Given the description of an element on the screen output the (x, y) to click on. 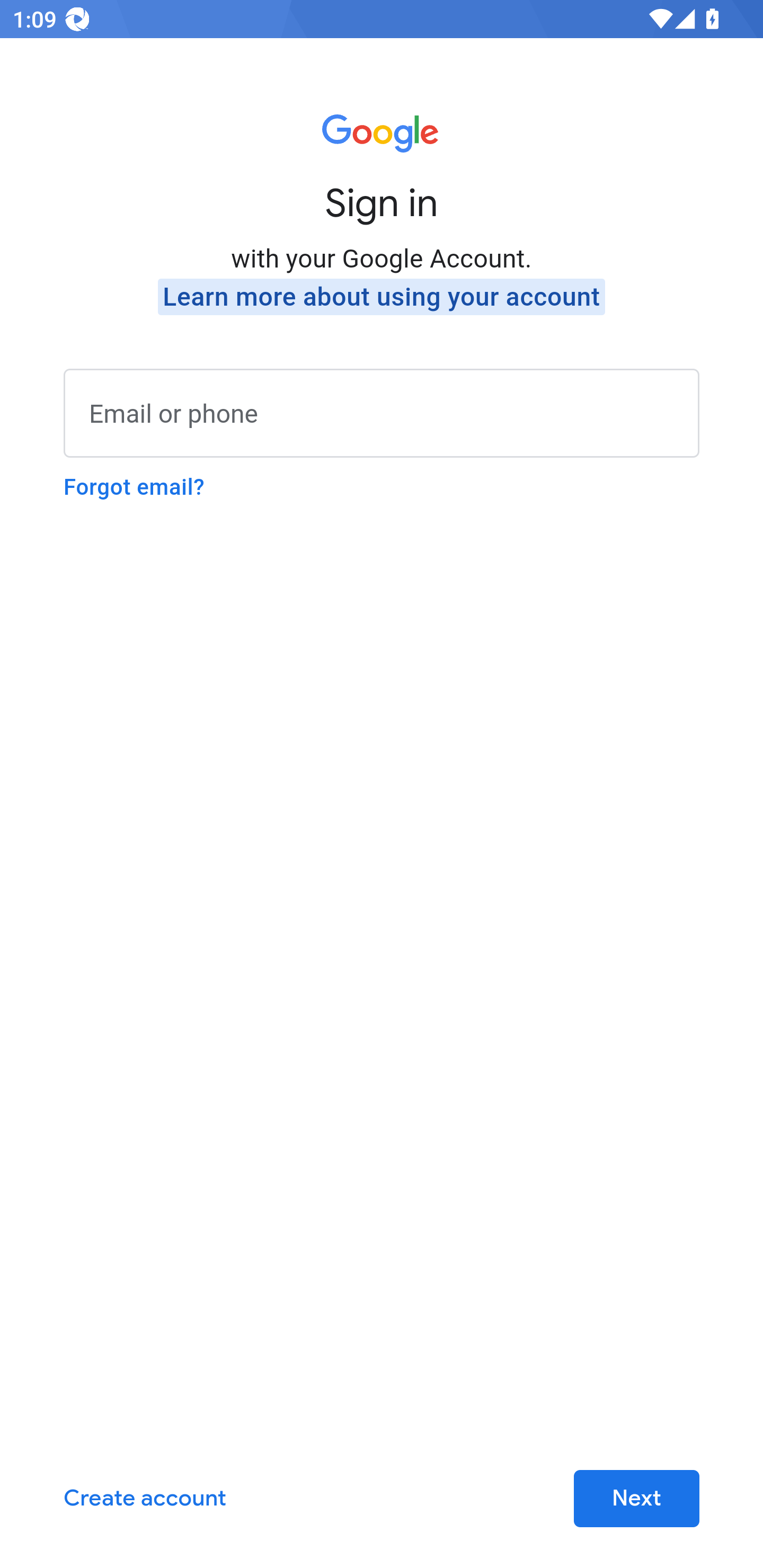
Learn more about using your account (381, 296)
Forgot email? (133, 486)
Create account (145, 1498)
Next (635, 1498)
